Given the description of an element on the screen output the (x, y) to click on. 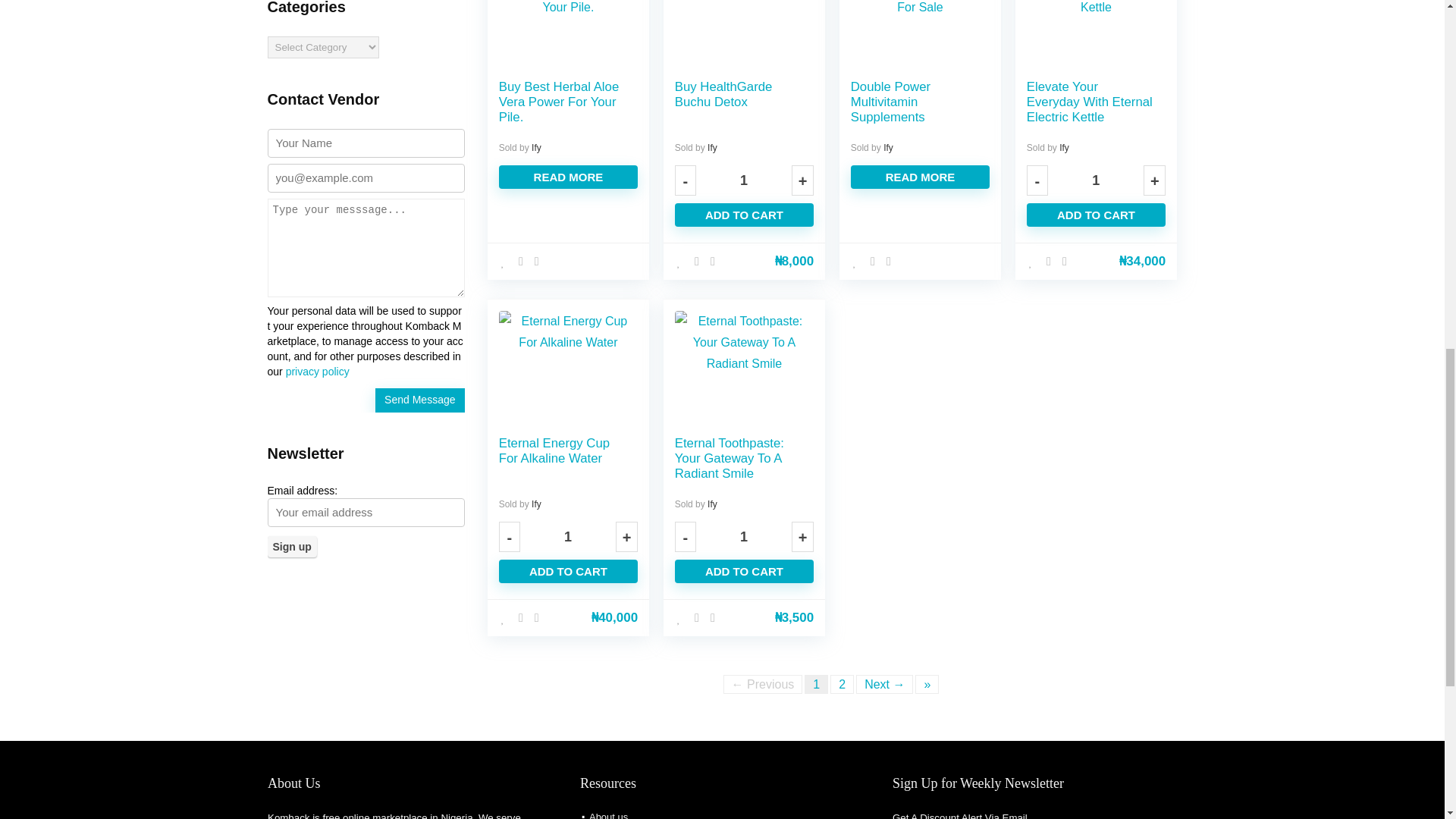
Qty (743, 536)
Qty (1096, 180)
1 (743, 536)
Last (927, 683)
1 (1096, 180)
Qty (567, 536)
1 (743, 180)
Buy Best Herbal Aloe Vera Power For Your Pile. (559, 101)
Qty (743, 180)
1 (567, 536)
